Given the description of an element on the screen output the (x, y) to click on. 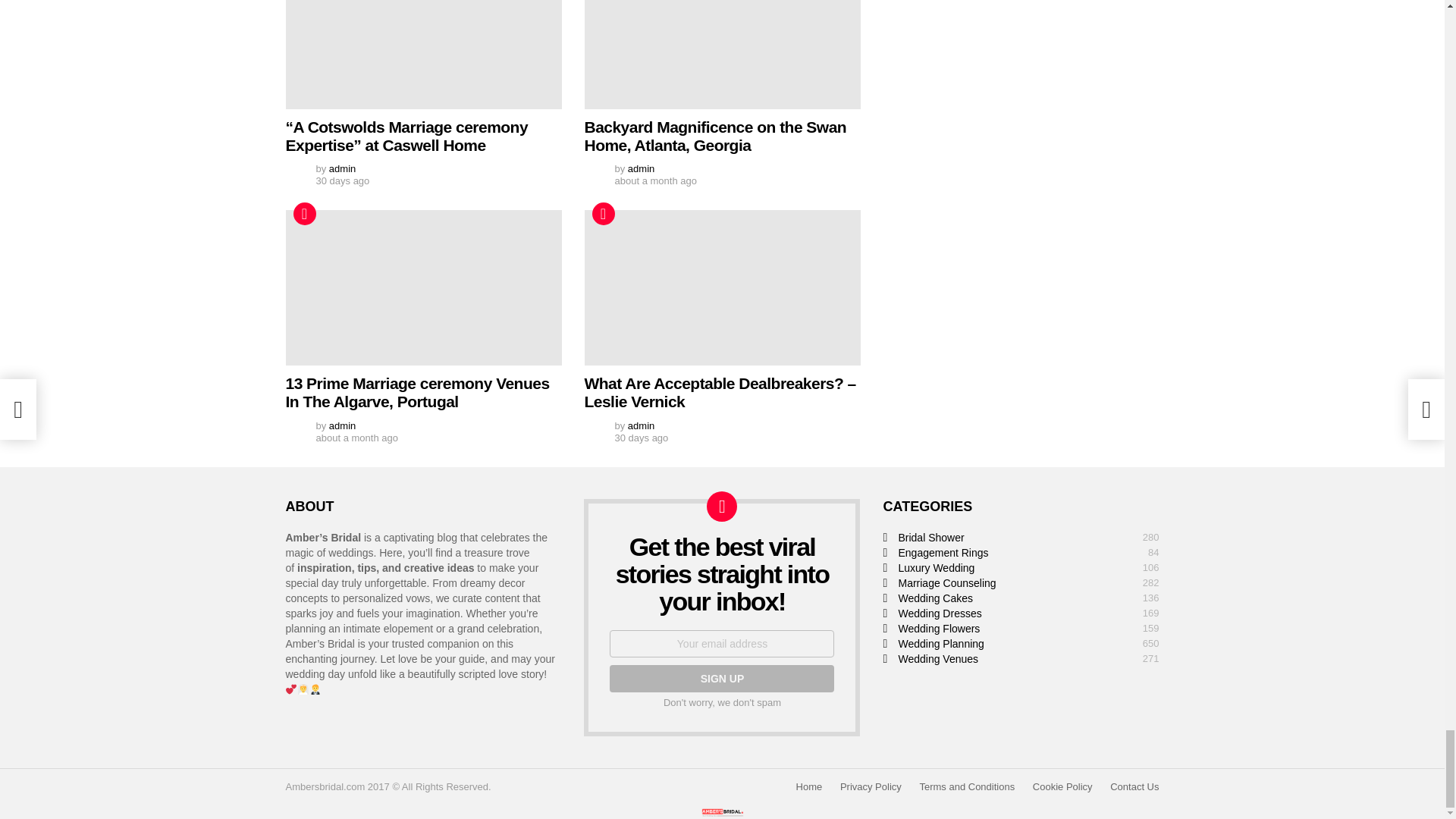
Sign up (722, 678)
